Given the description of an element on the screen output the (x, y) to click on. 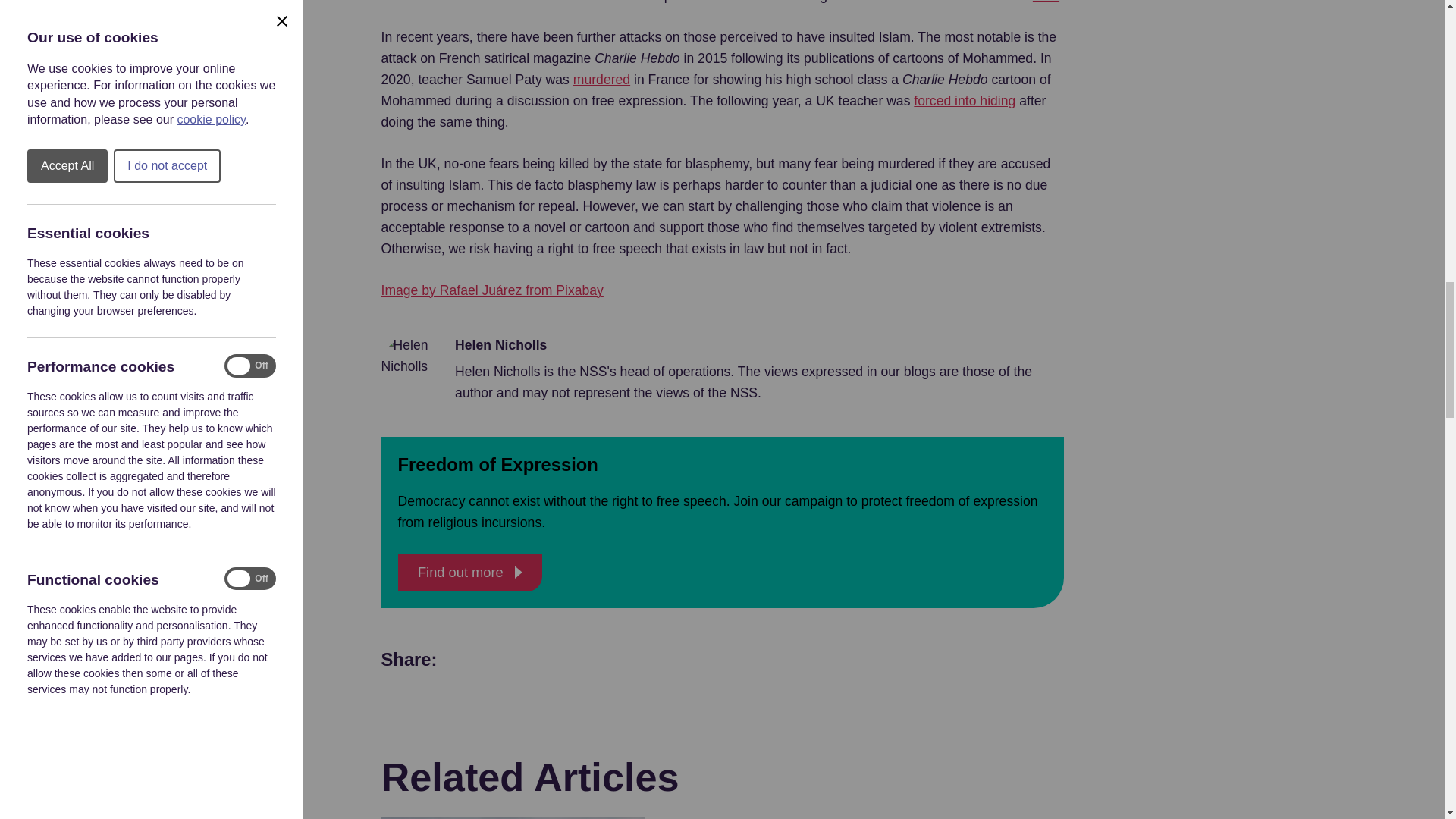
Share on Email (633, 660)
Share on Twitter (579, 660)
Find out more (469, 572)
here (1045, 2)
Share on What's App (472, 660)
forced into hiding (964, 100)
murdered (601, 79)
Share on Facebook (525, 660)
